Given the description of an element on the screen output the (x, y) to click on. 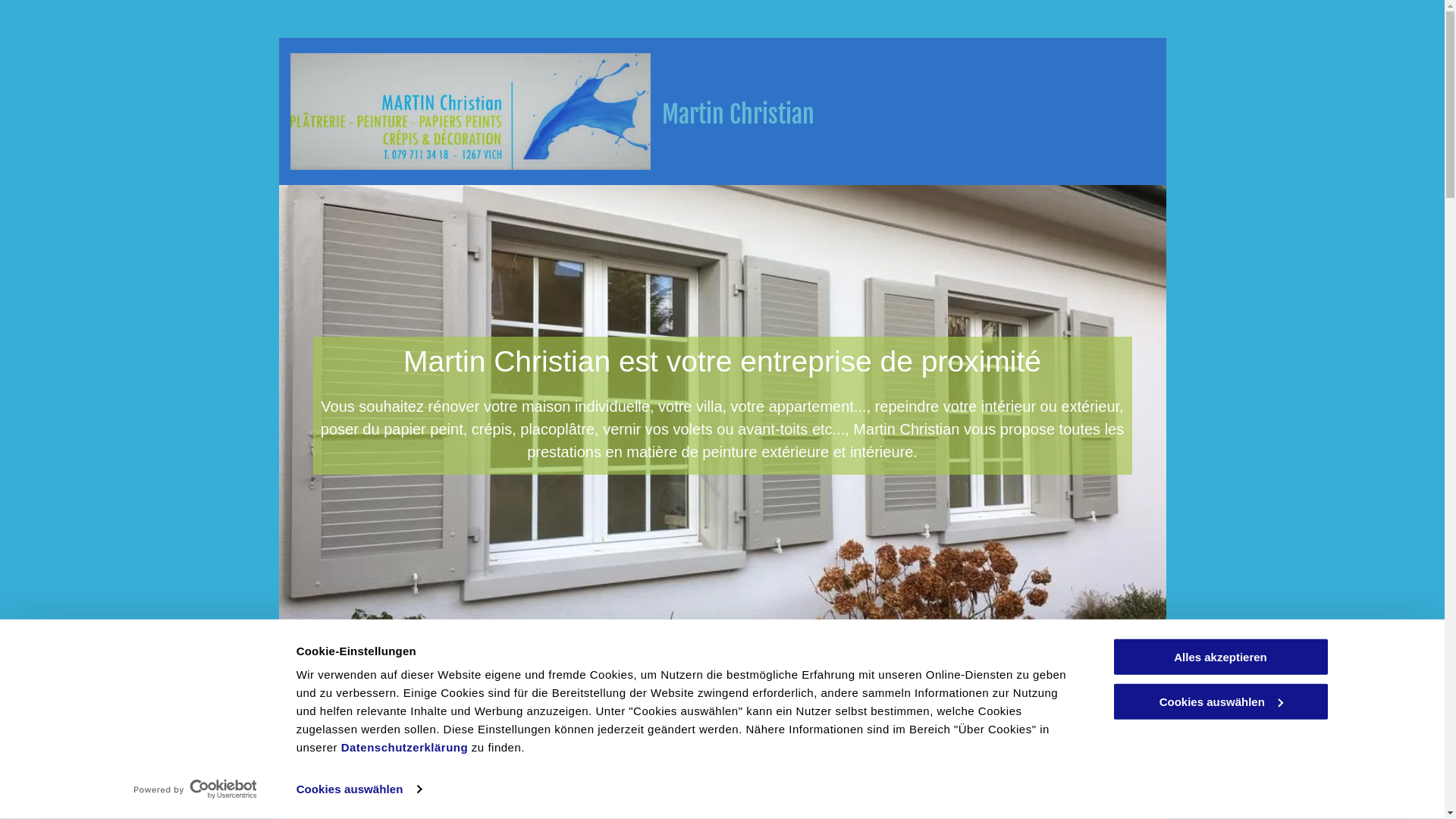
Martin Christian Element type: text (737, 114)
Alles akzeptieren Element type: text (1219, 656)
